Given the description of an element on the screen output the (x, y) to click on. 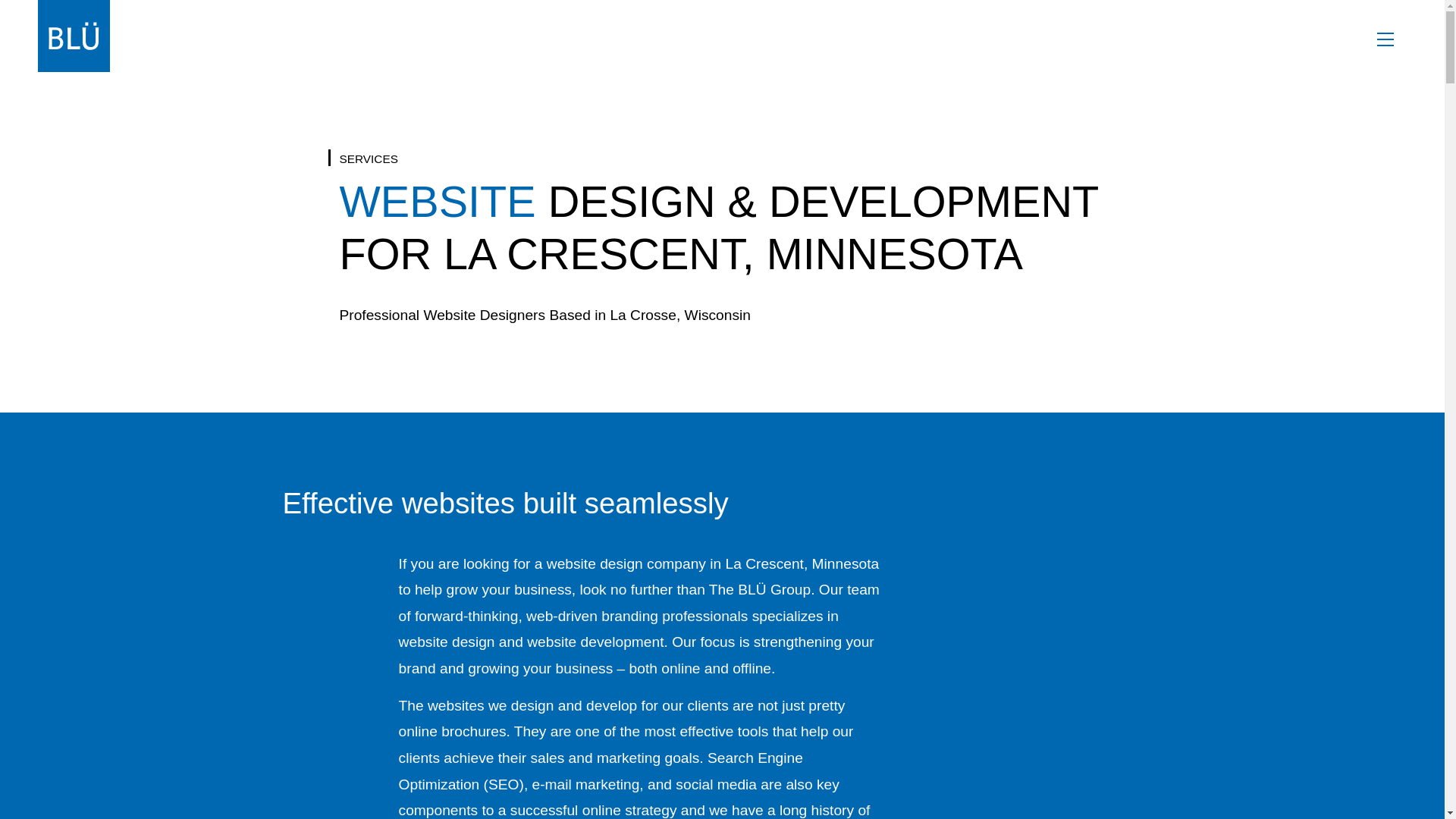
Menu (1385, 37)
